Given the description of an element on the screen output the (x, y) to click on. 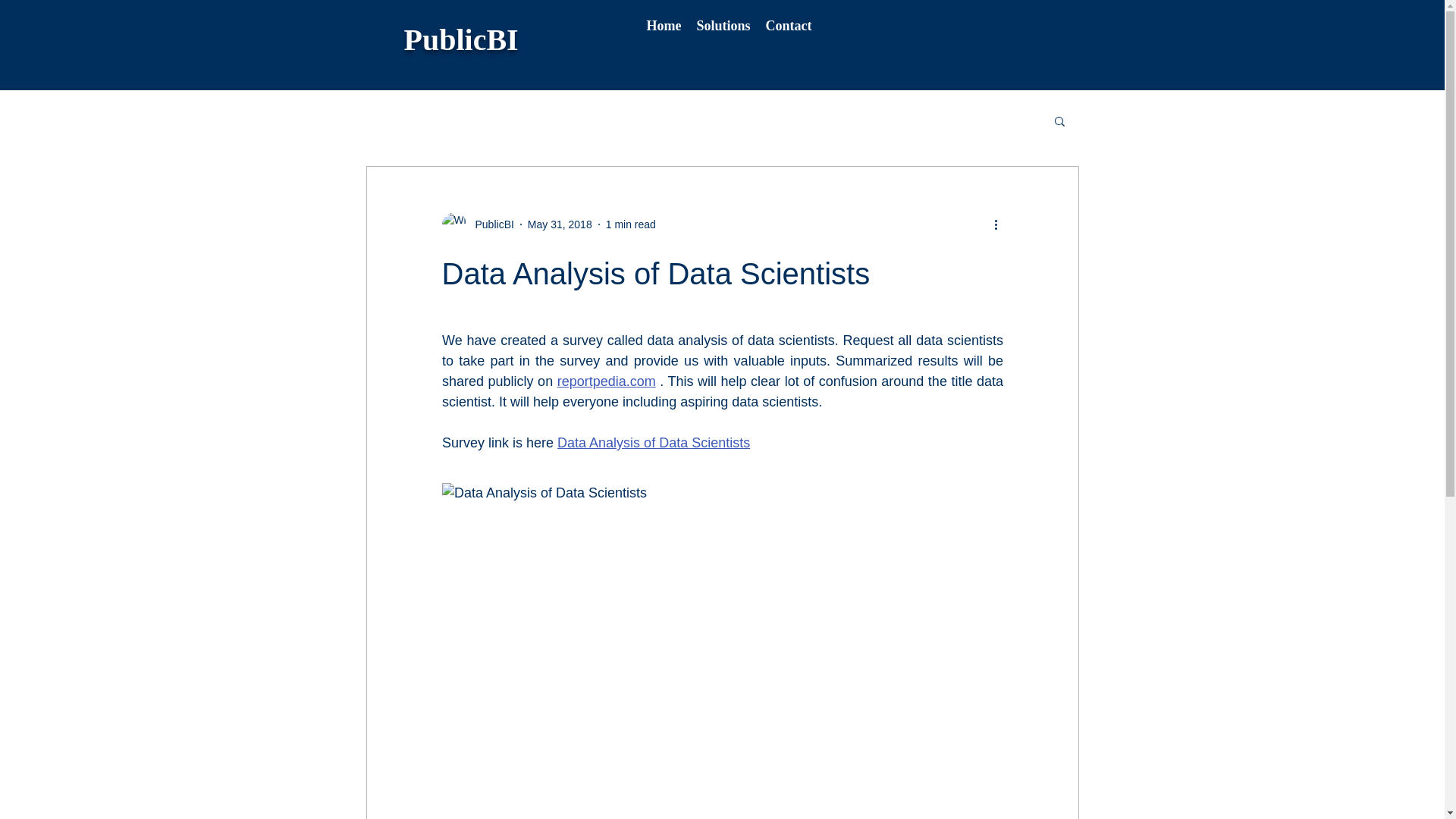
May 31, 2018 (559, 224)
1 min read (630, 224)
Data Analysis of Data Scientists (653, 442)
reportpedia.com (605, 381)
Home (663, 24)
PublicBI (460, 39)
PublicBI (489, 224)
Contact (788, 24)
